Given the description of an element on the screen output the (x, y) to click on. 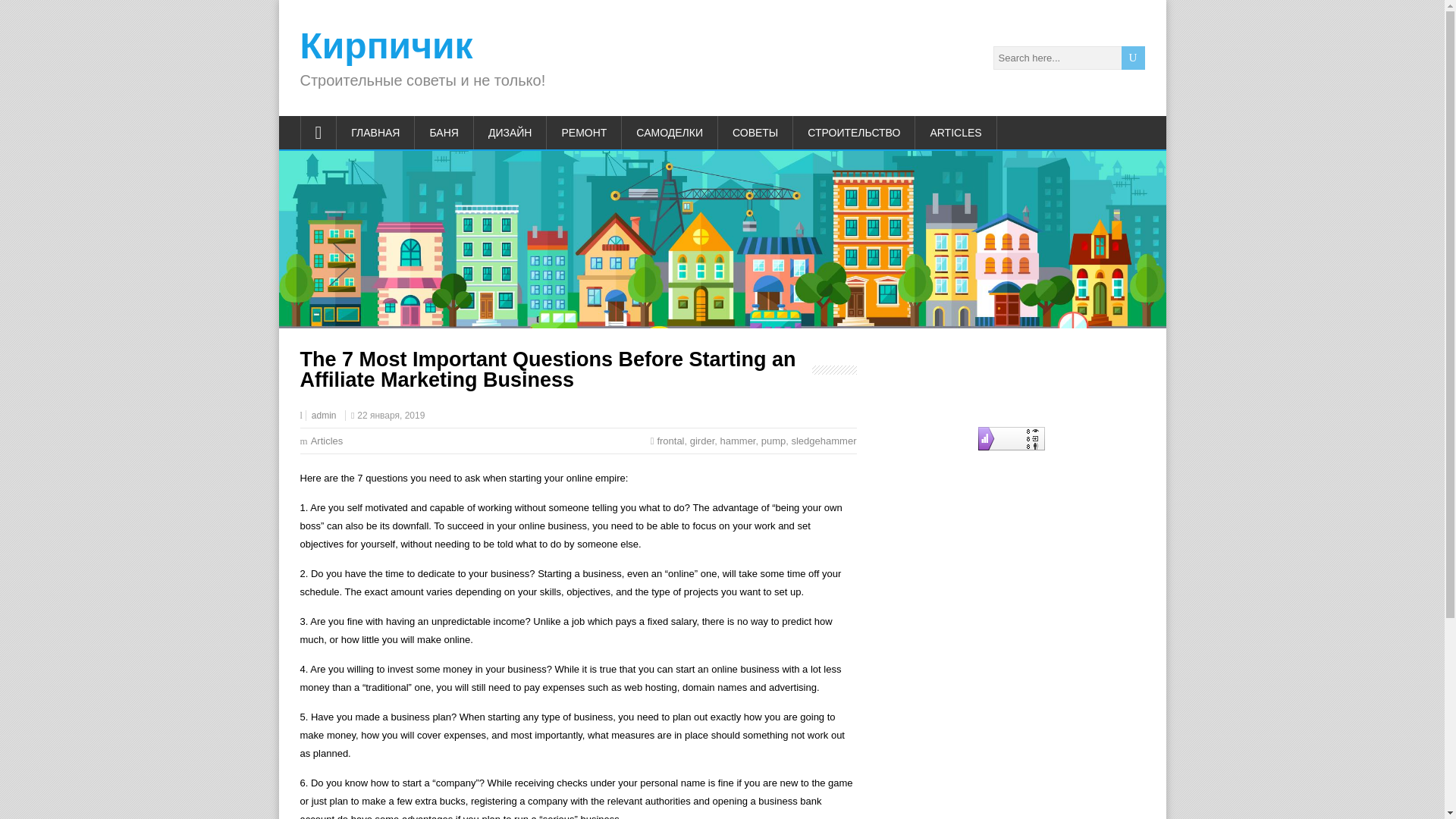
frontal (670, 440)
sledgehammer (823, 440)
U (1132, 57)
U (1132, 57)
girder (702, 440)
admin (323, 415)
ARTICLES (955, 132)
pump (773, 440)
Articles (327, 440)
hammer (737, 440)
